Given the description of an element on the screen output the (x, y) to click on. 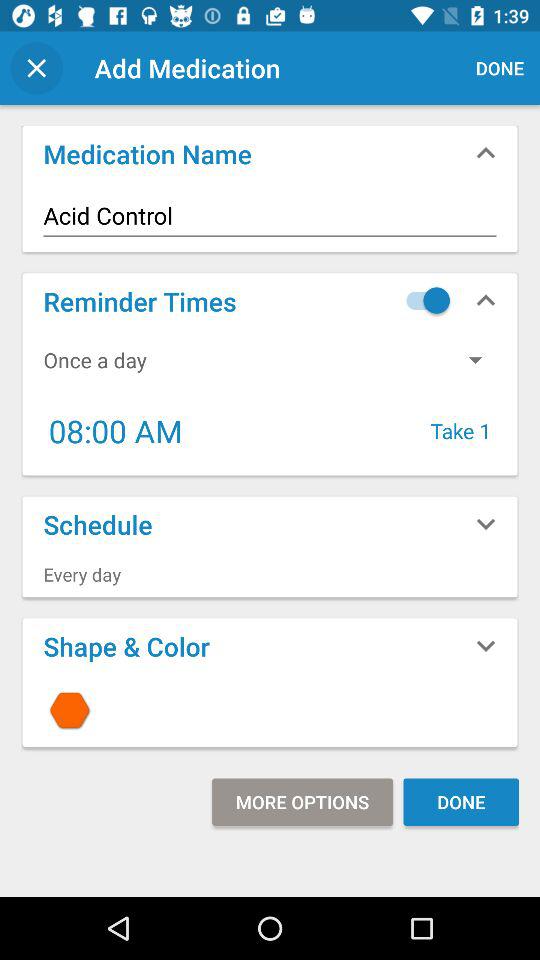
turn on icon to the left of add medication item (36, 68)
